Given the description of an element on the screen output the (x, y) to click on. 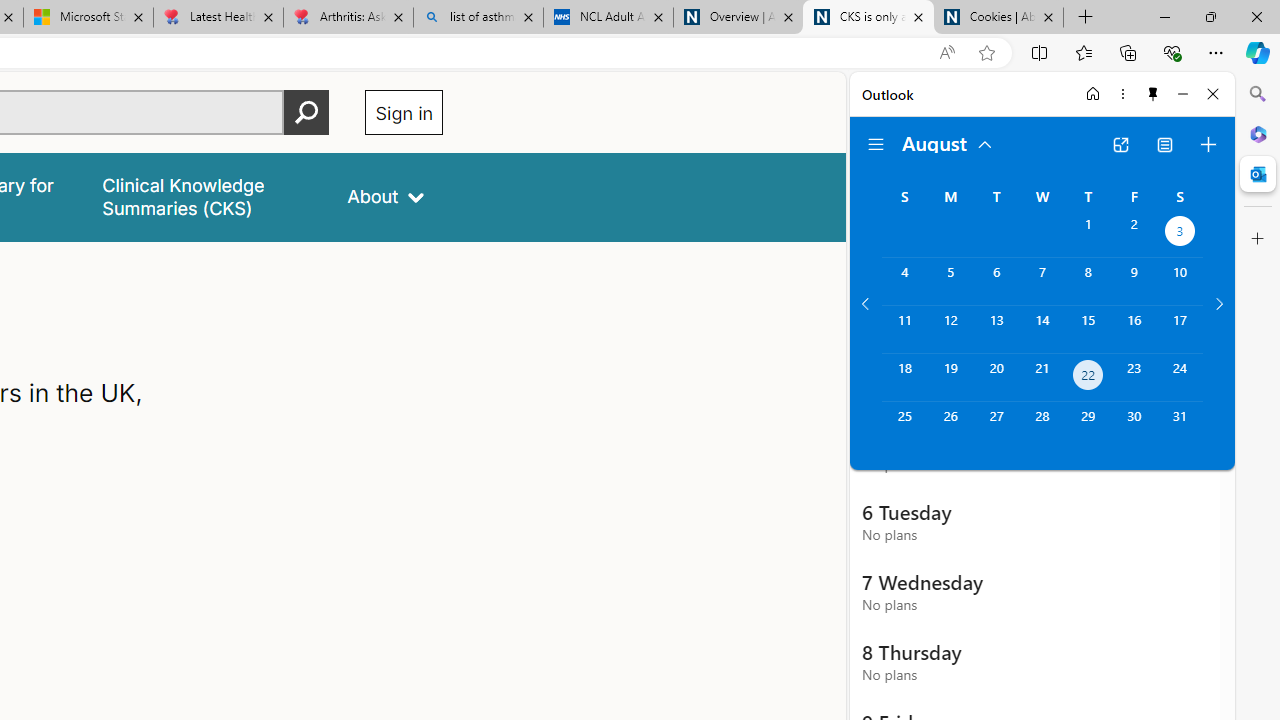
Wednesday, August 28, 2024.  (1042, 425)
Saturday, August 3, 2024. Date selected.  (1180, 233)
Monday, August 12, 2024.  (950, 329)
View Switcher. Current view is Agenda view (1165, 144)
Thursday, August 15, 2024.  (1088, 329)
About (386, 196)
Thursday, August 8, 2024.  (1088, 281)
Saturday, August 17, 2024.  (1180, 329)
Friday, August 23, 2024.  (1134, 377)
list of asthma inhalers uk - Search (477, 17)
